Given the description of an element on the screen output the (x, y) to click on. 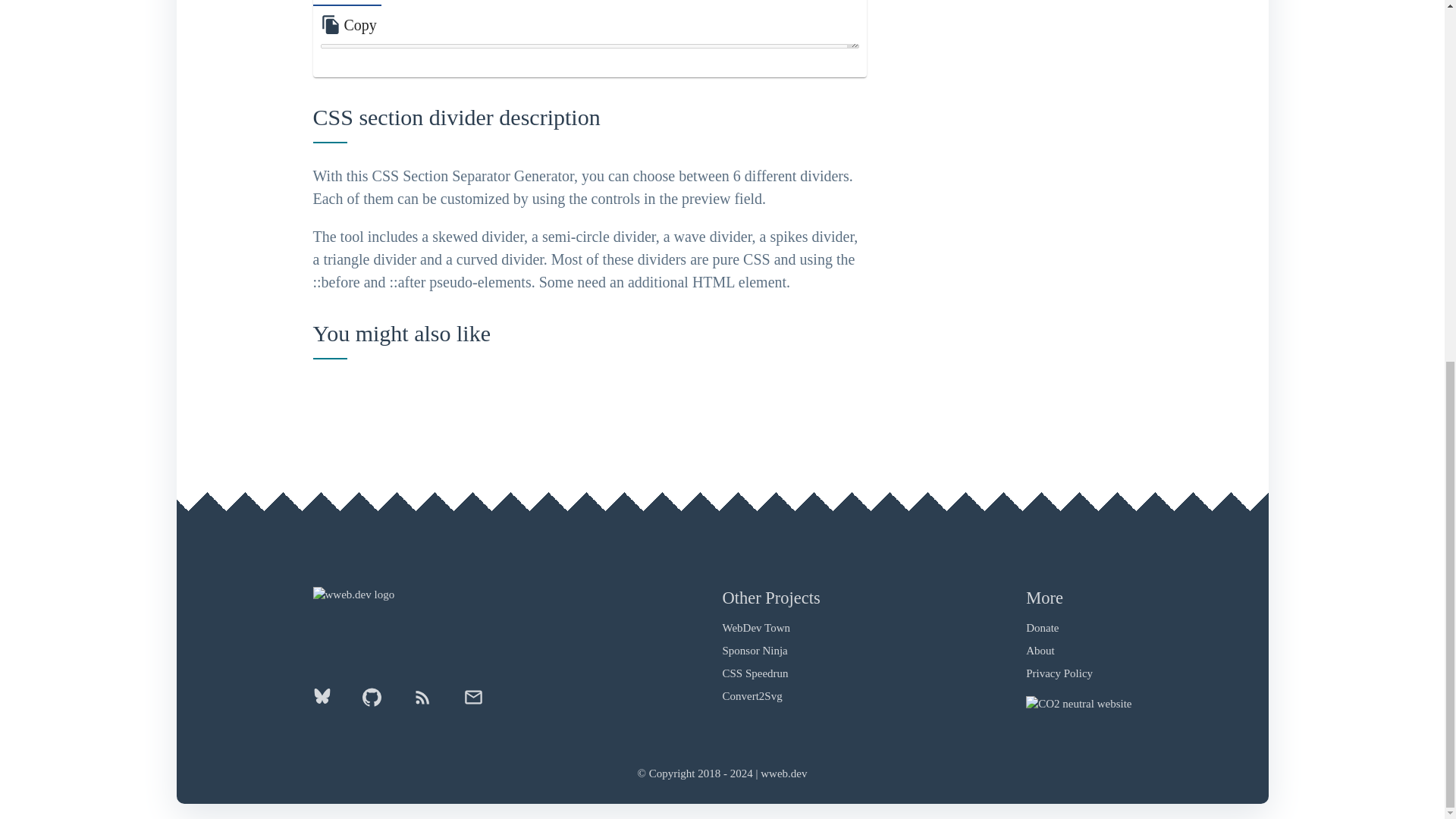
Github (371, 703)
About (1040, 650)
CSS Speedrun (754, 673)
2 (473, 2)
Donate (1042, 627)
HTML (346, 2)
Bluesky (329, 701)
Sponsor Ninja (414, 2)
E-Mail (754, 650)
Convert2Svg (464, 703)
Privacy Policy (751, 695)
WebDev Town (1059, 673)
RSS Feed (756, 627)
